Given the description of an element on the screen output the (x, y) to click on. 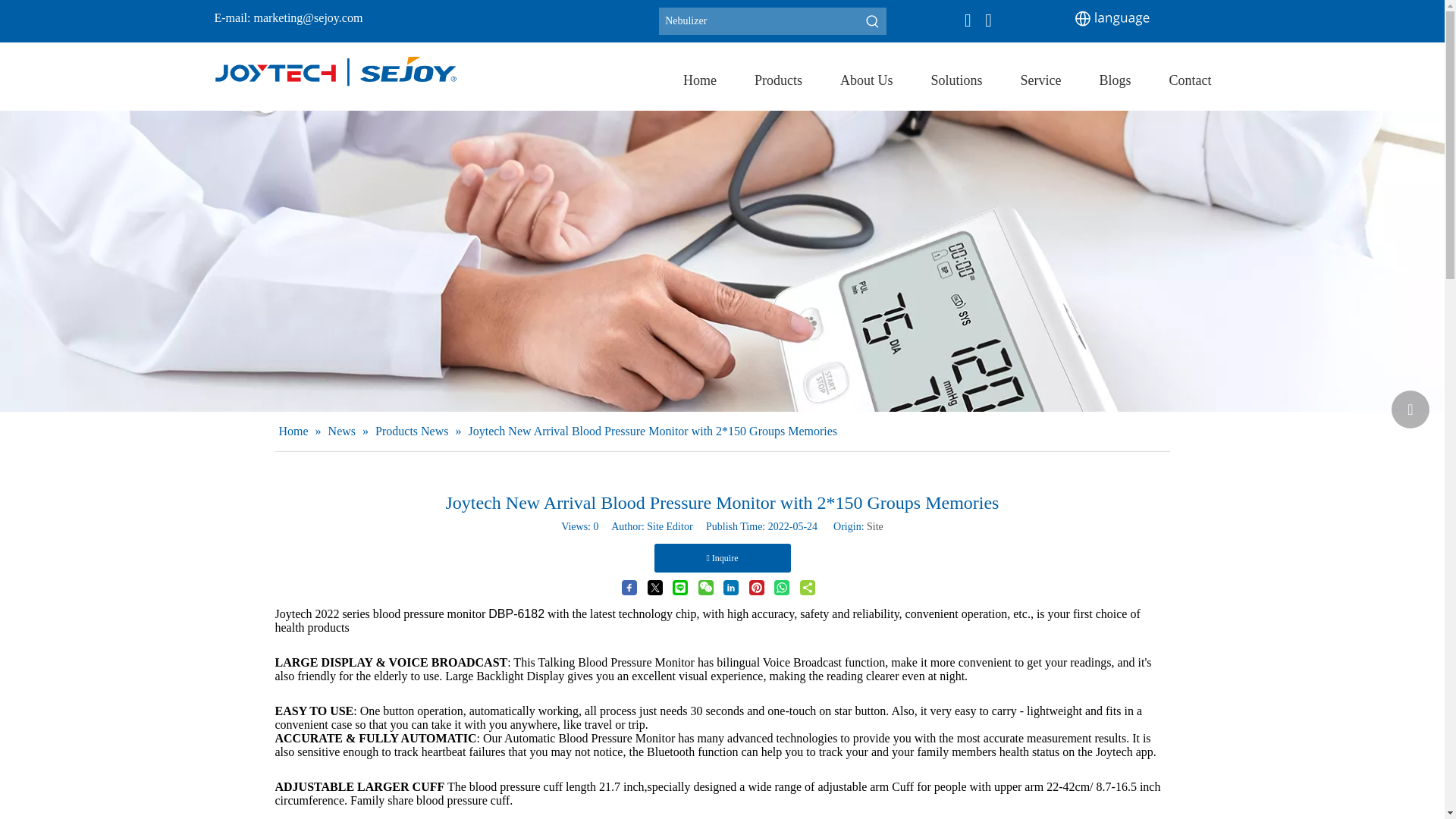
New arrival blood pressure monitor (458, 613)
medical devices leading manufacturer (335, 71)
